Given the description of an element on the screen output the (x, y) to click on. 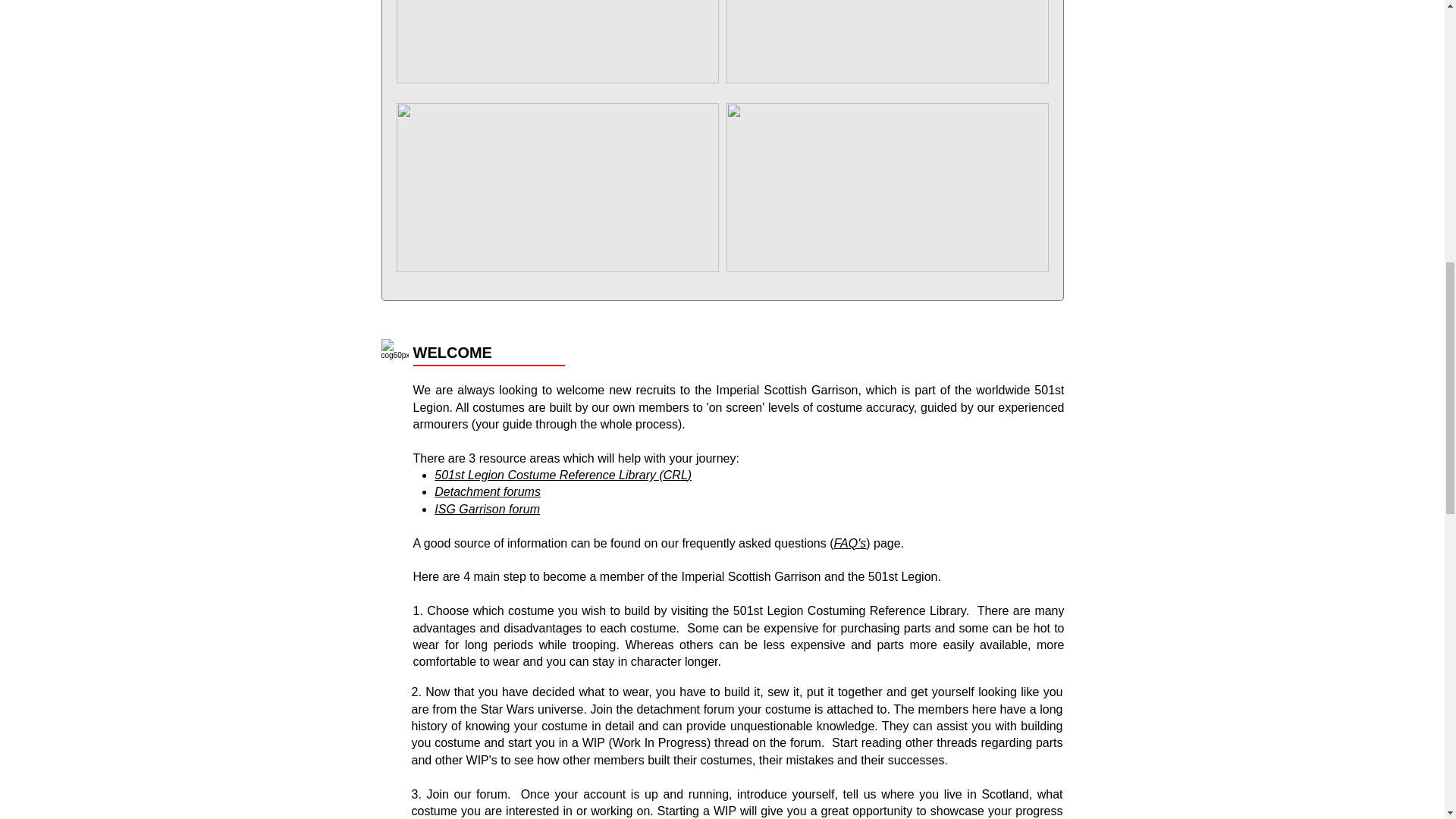
ISG Garrison forum (486, 508)
FAQ's (850, 543)
Detachment forums (486, 491)
